Given the description of an element on the screen output the (x, y) to click on. 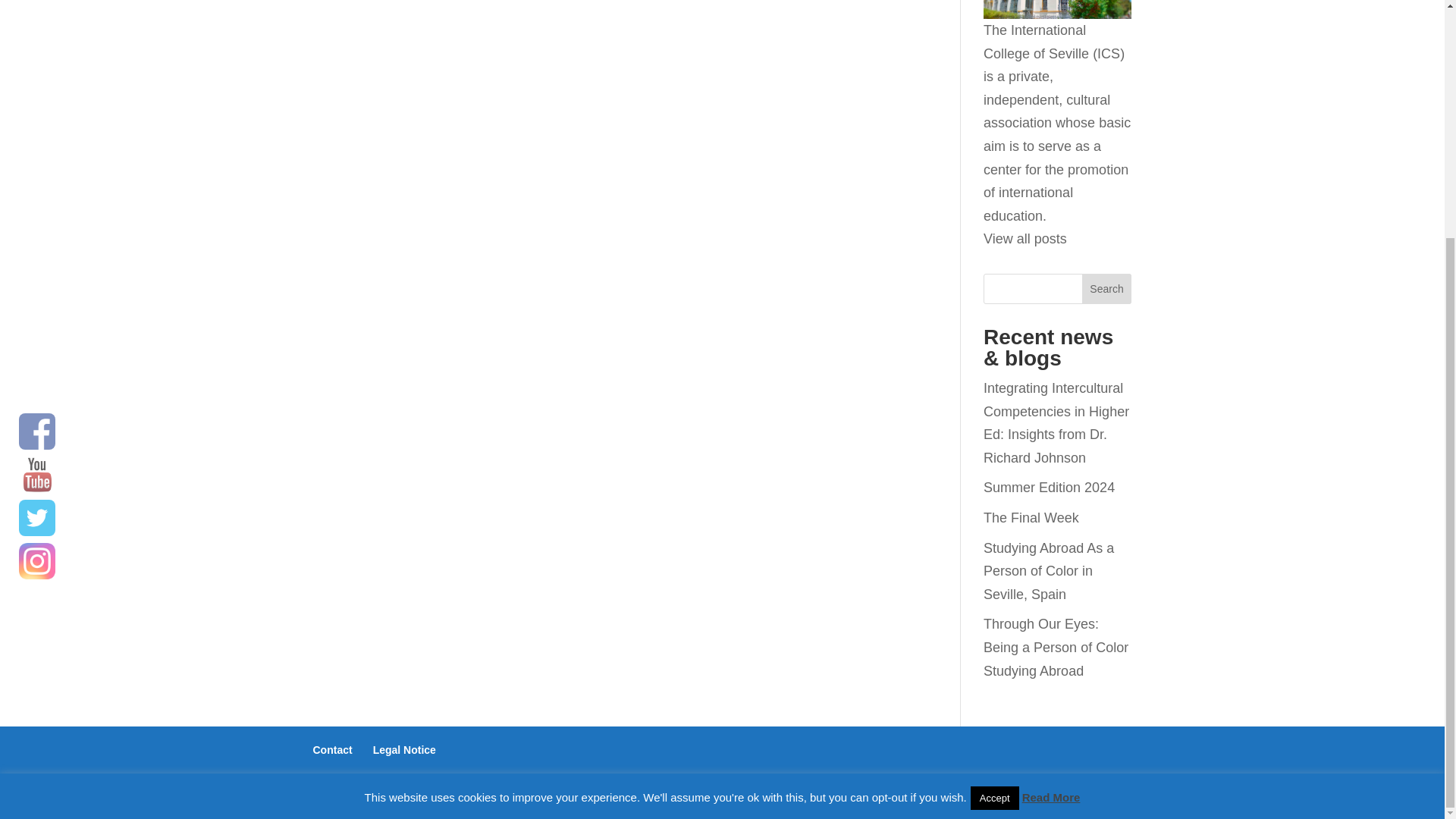
View Our Twitter Feed (36, 191)
Visit Our YouTube Channel (36, 148)
Visit Our Instagram (36, 235)
Visit Our Facebook Page (36, 104)
Search (1106, 288)
